Given the description of an element on the screen output the (x, y) to click on. 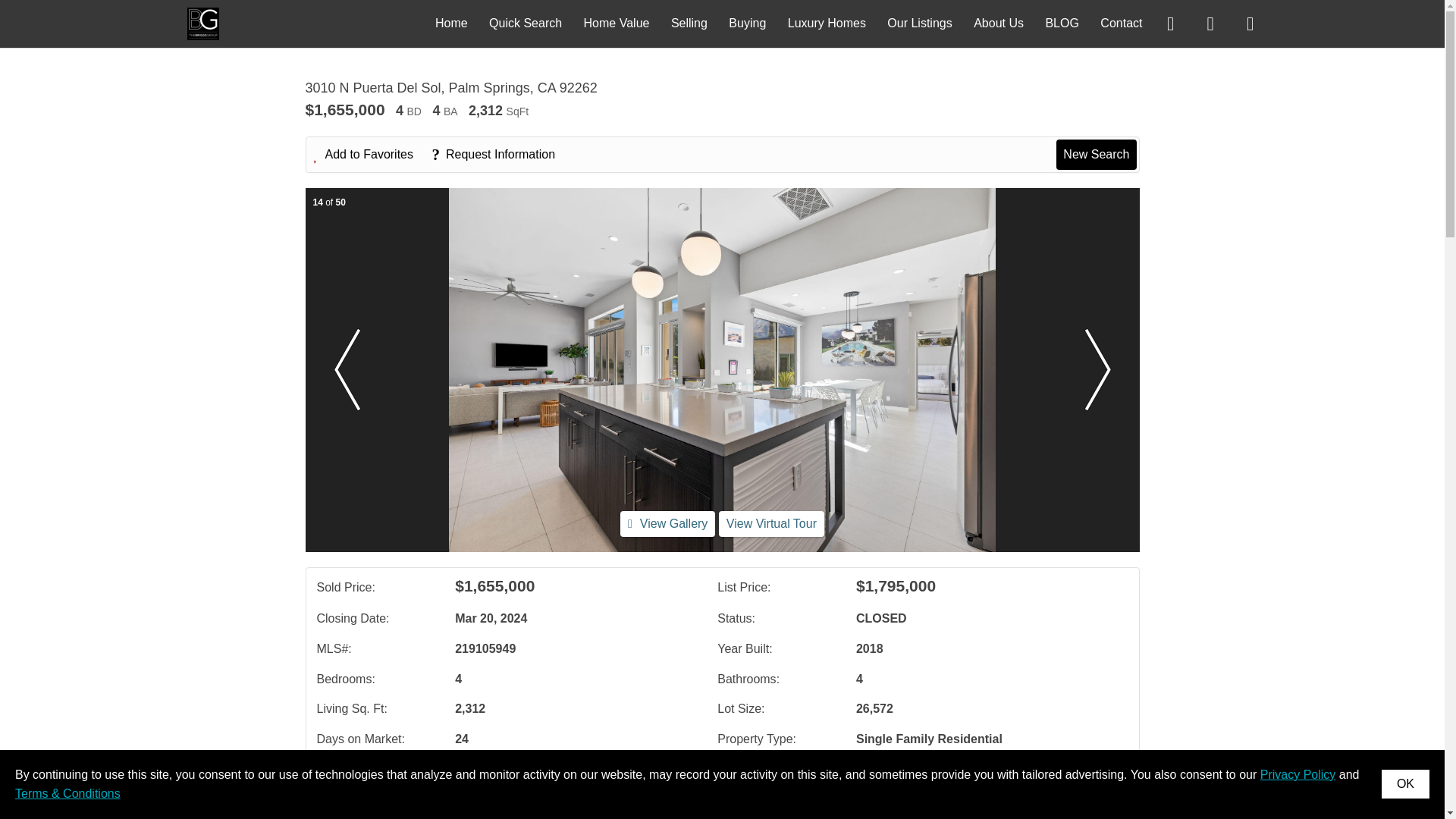
Our Listings (919, 22)
Request Information (500, 154)
Contact (1120, 22)
Home Value (616, 22)
View Gallery (667, 522)
View Virtual Tour (771, 524)
View Gallery (667, 524)
Quick Search (525, 22)
Home (451, 22)
BLOG (1061, 22)
Add to Favorites (371, 154)
New Search (1096, 154)
Luxury Homes (826, 22)
Buying (747, 22)
View Virtual Tour (771, 522)
